Given the description of an element on the screen output the (x, y) to click on. 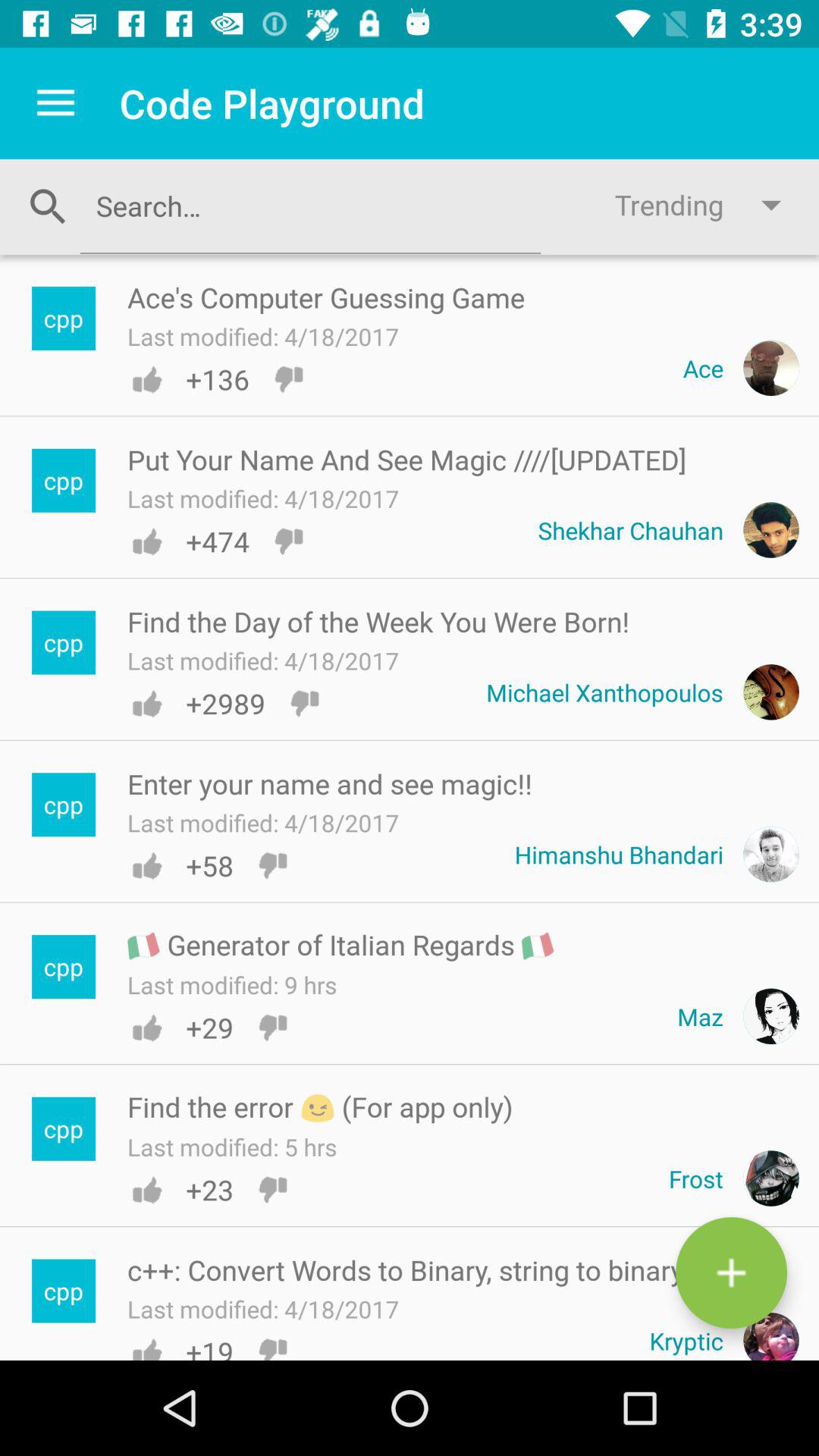
area to input search terms (310, 205)
